Given the description of an element on the screen output the (x, y) to click on. 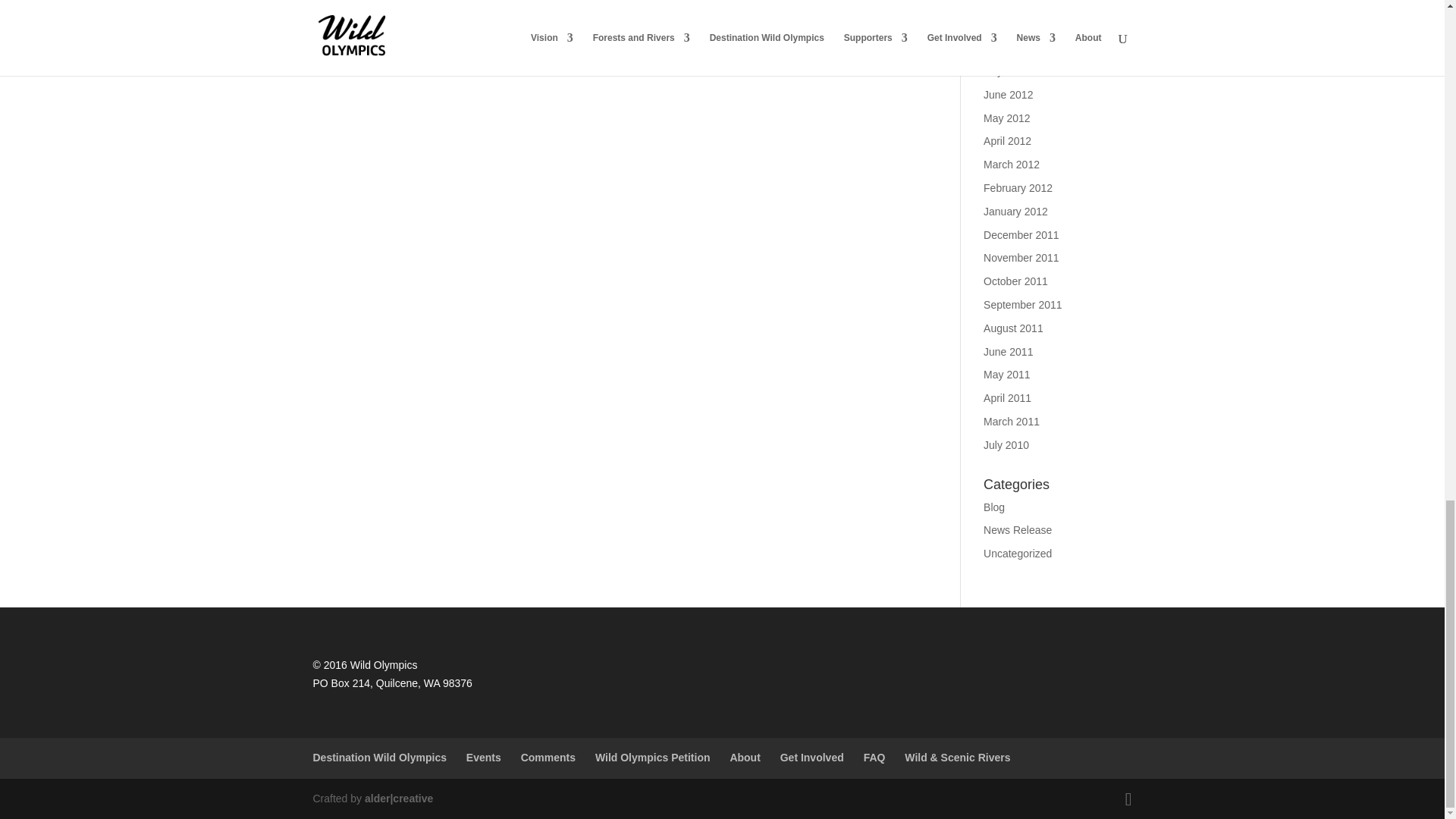
Modern Web Design and Content Creation in Aberdeen, WA (398, 798)
